Given the description of an element on the screen output the (x, y) to click on. 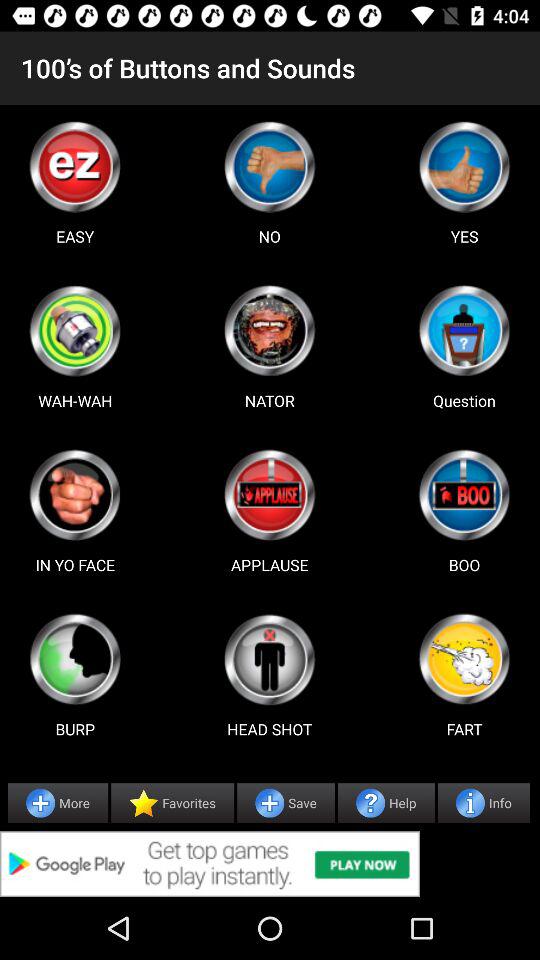
advertisement page (464, 330)
